Given the description of an element on the screen output the (x, y) to click on. 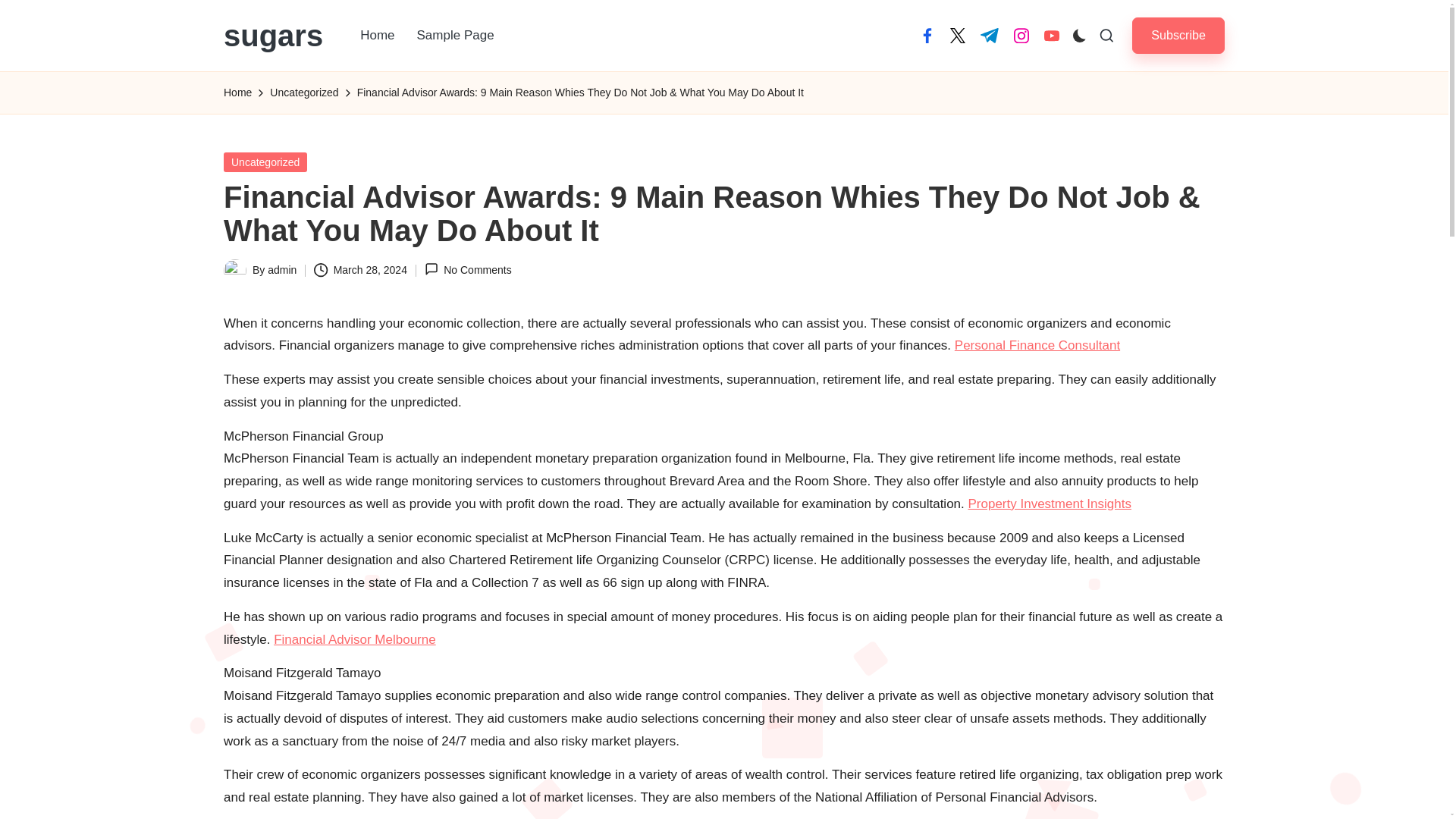
facebook.com (927, 35)
Home (376, 35)
instagram.com (1020, 35)
admin (282, 269)
youtube.com (1051, 35)
t.me (989, 35)
No Comments (468, 270)
Sample Page (455, 35)
sugars (273, 35)
Home (237, 92)
